Given the description of an element on the screen output the (x, y) to click on. 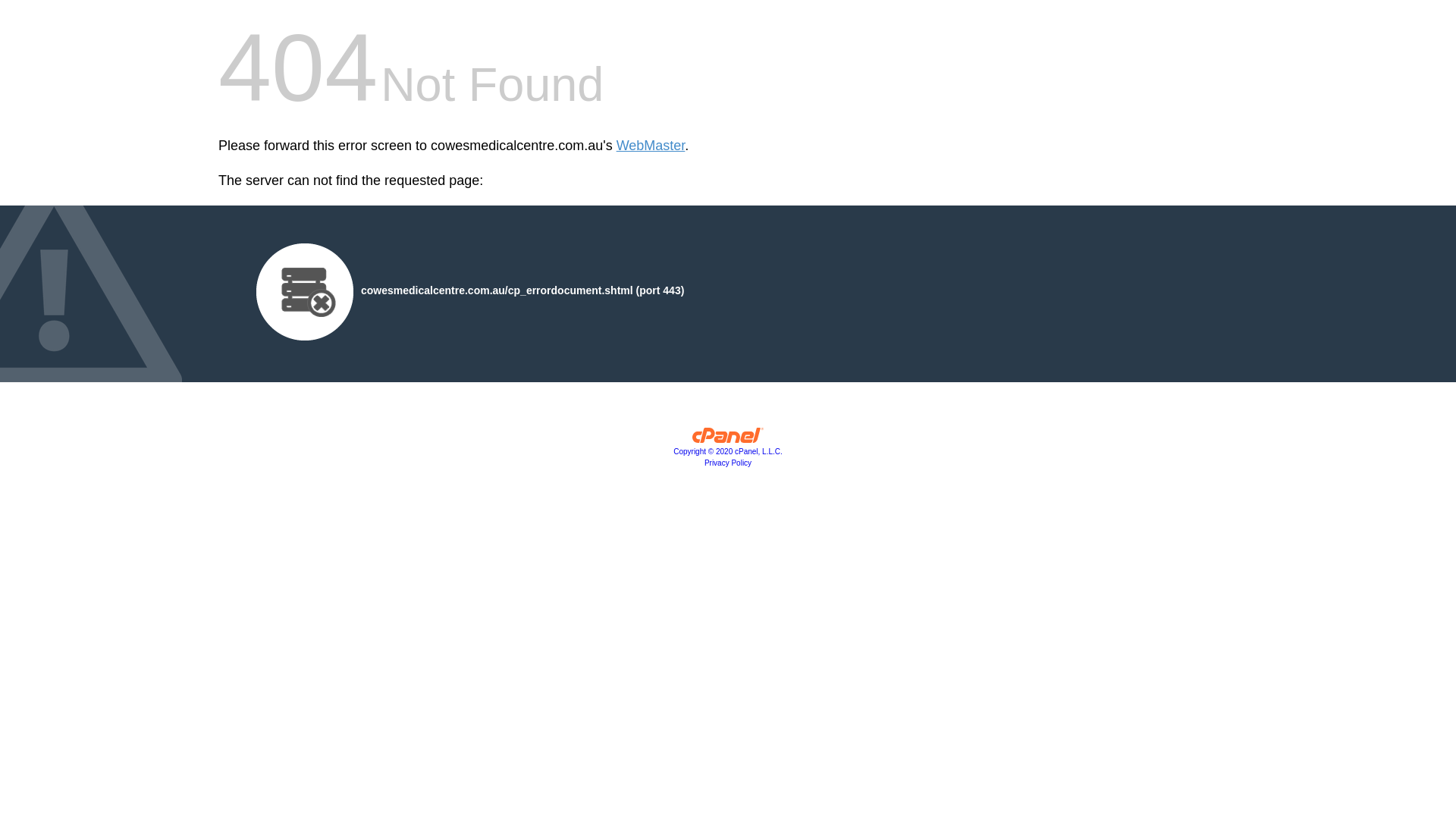
cPanel, Inc. Element type: hover (728, 439)
Privacy Policy Element type: text (727, 462)
WebMaster Element type: text (650, 145)
